Given the description of an element on the screen output the (x, y) to click on. 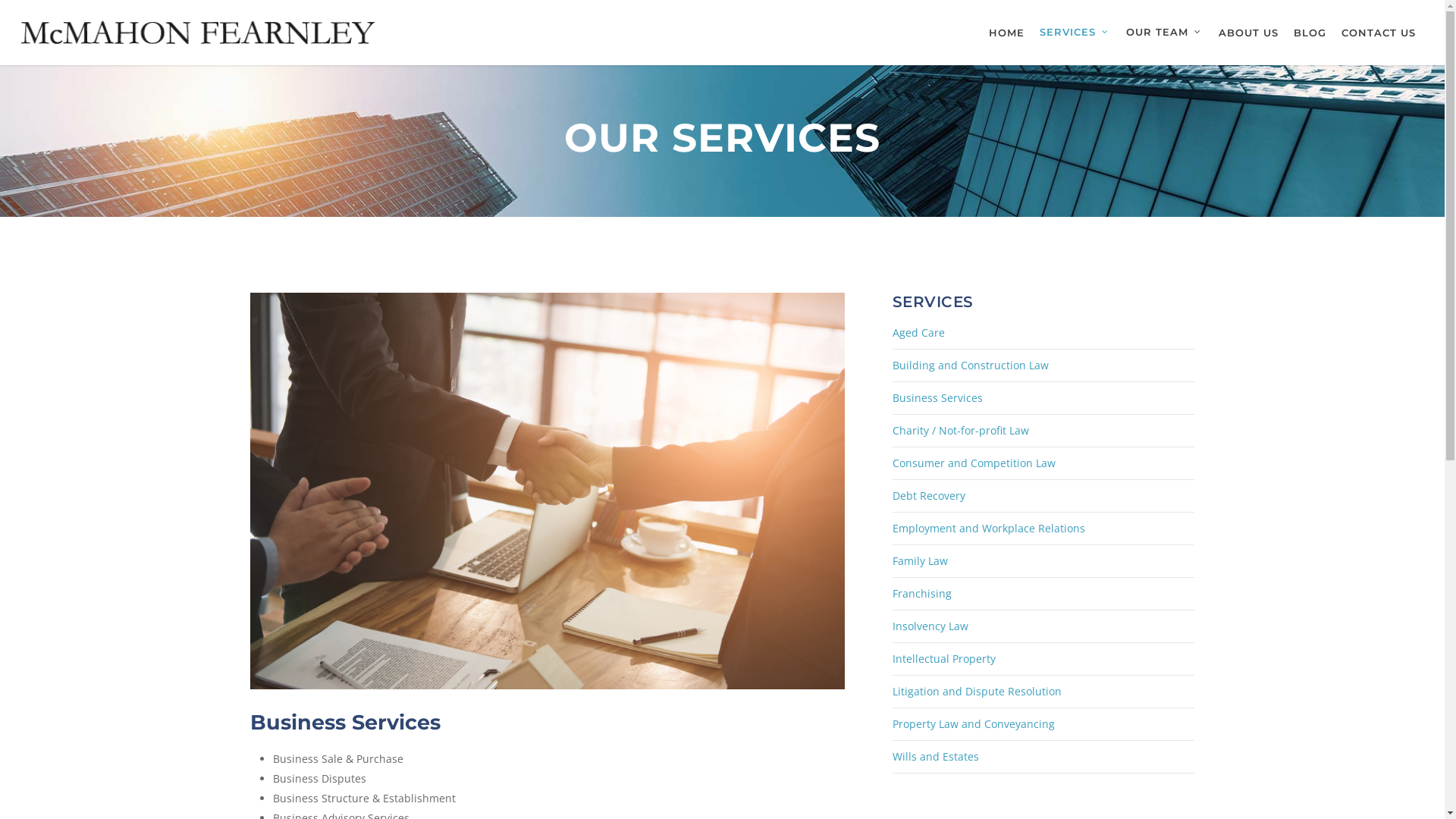
Intellectual Property Element type: text (1043, 659)
SERVICES Element type: text (1075, 32)
Building and Construction Law Element type: text (1043, 365)
BLOG Element type: text (1309, 32)
ABOUT US Element type: text (1248, 32)
Litigation and Dispute Resolution Element type: text (1043, 691)
Consumer and Competition Law Element type: text (1043, 463)
Charity / Not-for-profit Law Element type: text (1043, 430)
Family Law Element type: text (1043, 561)
Wills and Estates Element type: text (1043, 756)
Property Law and Conveyancing Element type: text (1043, 724)
HOME Element type: text (1006, 32)
Insolvency Law Element type: text (1043, 626)
Aged Care Element type: text (1043, 332)
CONTACT US Element type: text (1378, 32)
Business Services Element type: text (1043, 398)
Employment and Workplace Relations Element type: text (1043, 528)
Franchising Element type: text (1043, 593)
Debt Recovery Element type: text (1043, 496)
OUR TEAM Element type: text (1164, 32)
